Given the description of an element on the screen output the (x, y) to click on. 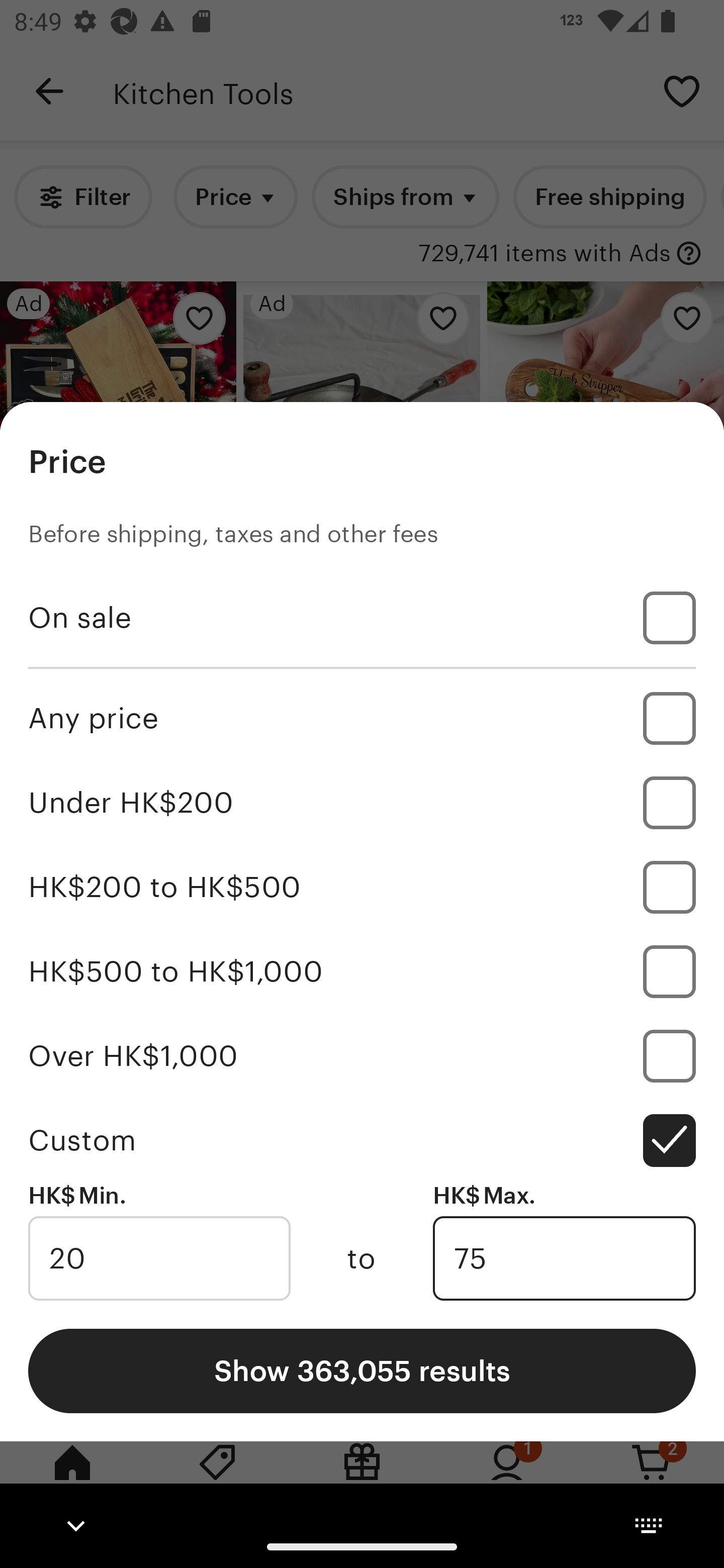
On sale (362, 617)
Any price (362, 717)
Under HK$200 (362, 802)
HK$200 to HK$500 (362, 887)
HK$500 to HK$1,000 (362, 970)
Over HK$1,000 (362, 1054)
Custom (362, 1139)
20 (159, 1257)
75 (563, 1257)
Show 363,055 results (361, 1370)
